Given the description of an element on the screen output the (x, y) to click on. 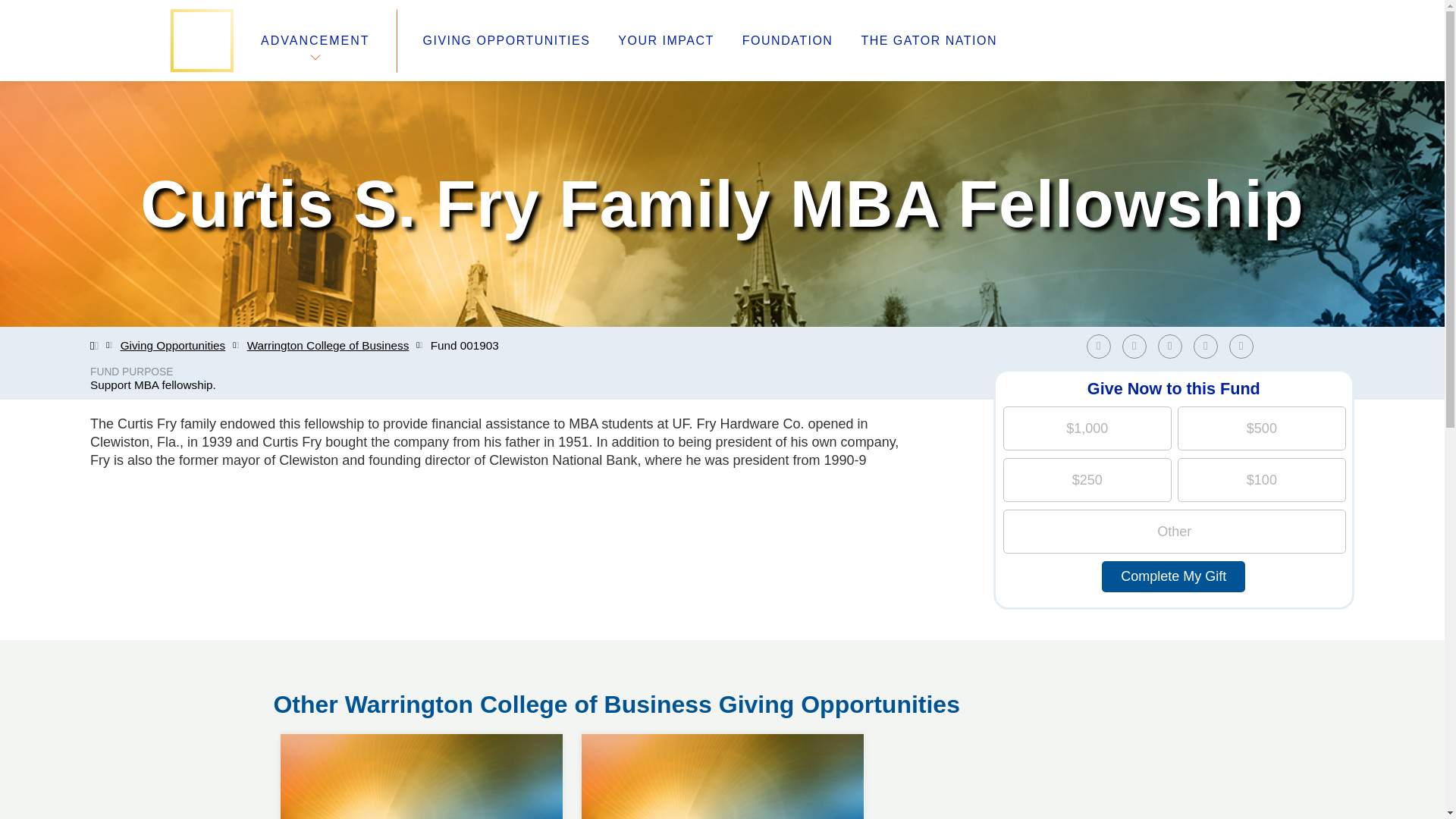
ADVANCEMENT (314, 40)
Share on Facebook (1098, 346)
Share on Reddit (1209, 345)
Share on Reddit (1205, 346)
Foundation Board (327, 704)
University of Florida (721, 734)
Share by Email (840, 668)
YOUR IMPACT (1240, 346)
Share on Twitter (665, 40)
Share on LinkedIn (1138, 345)
THE GATOR NATION (1169, 346)
Share by Email (928, 40)
Staff Directory (1244, 345)
